Given the description of an element on the screen output the (x, y) to click on. 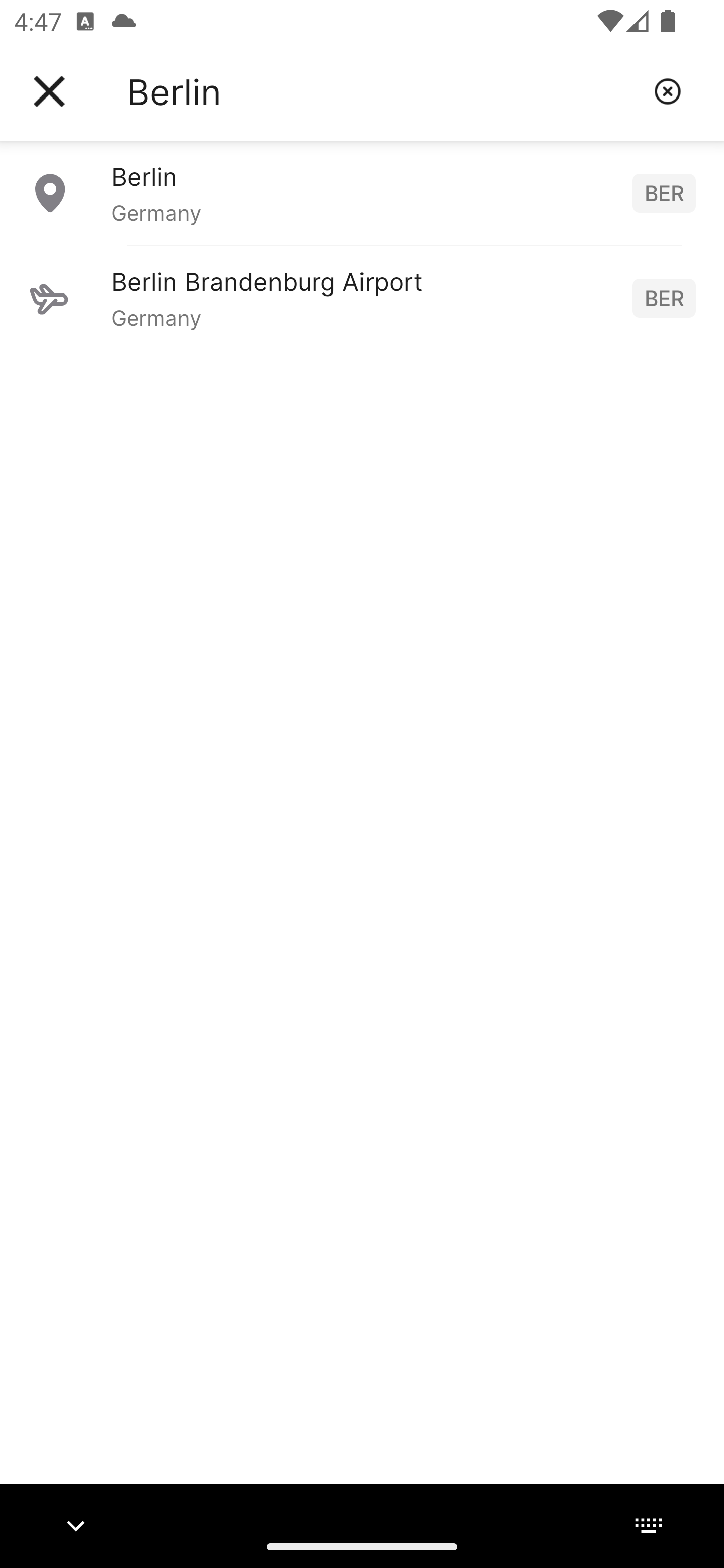
Berlin (382, 91)
Berlin Germany BER (362, 192)
Berlin Brandenburg Airport Germany BER (362, 297)
